Given the description of an element on the screen output the (x, y) to click on. 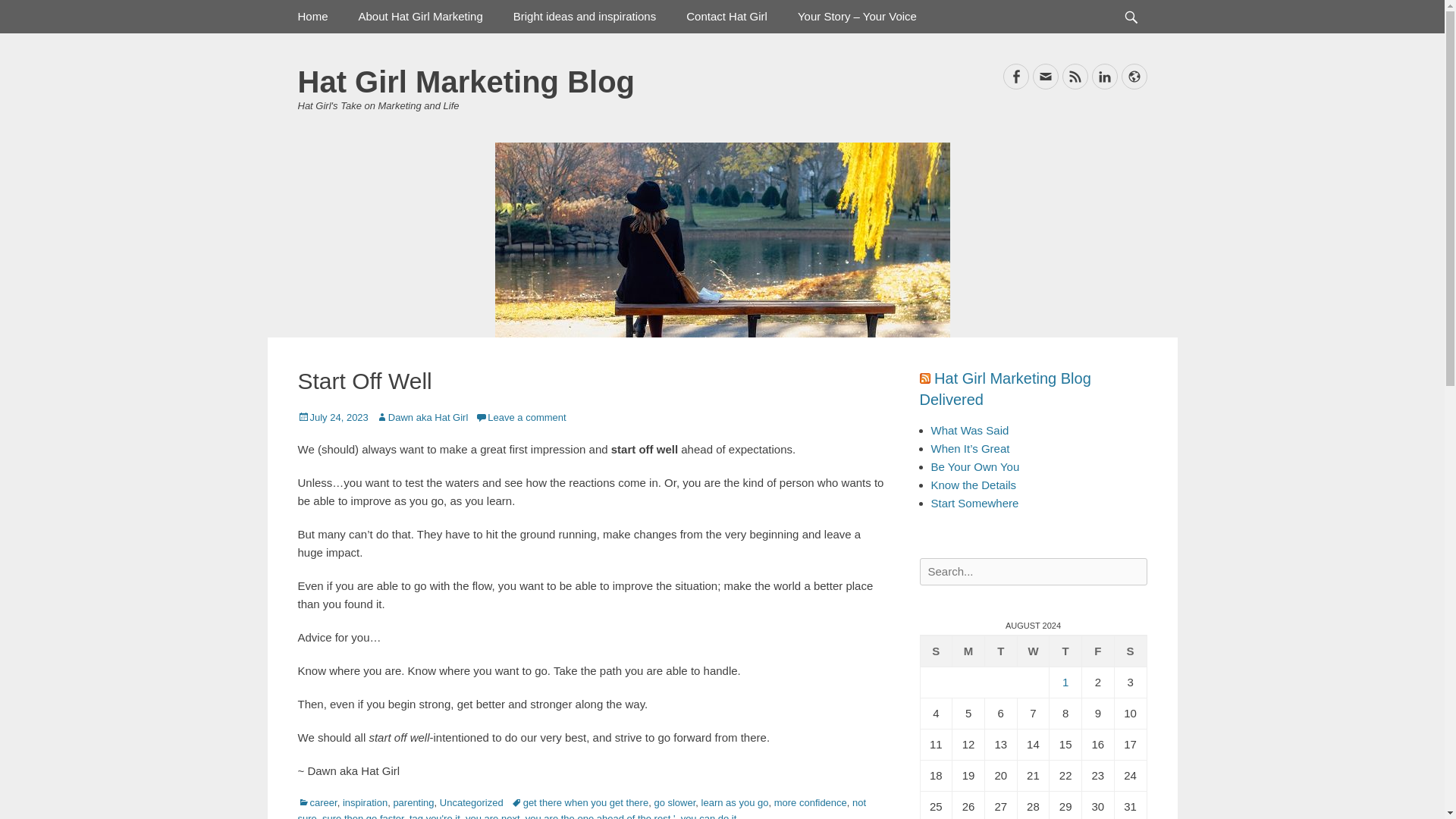
Email (1045, 76)
Website (1134, 76)
Feed (1074, 76)
go slower (674, 802)
Facebook (1015, 76)
Email (1045, 76)
What Was Said (970, 430)
get there when you get there (580, 802)
you can do it (708, 816)
Website (1134, 76)
